Given the description of an element on the screen output the (x, y) to click on. 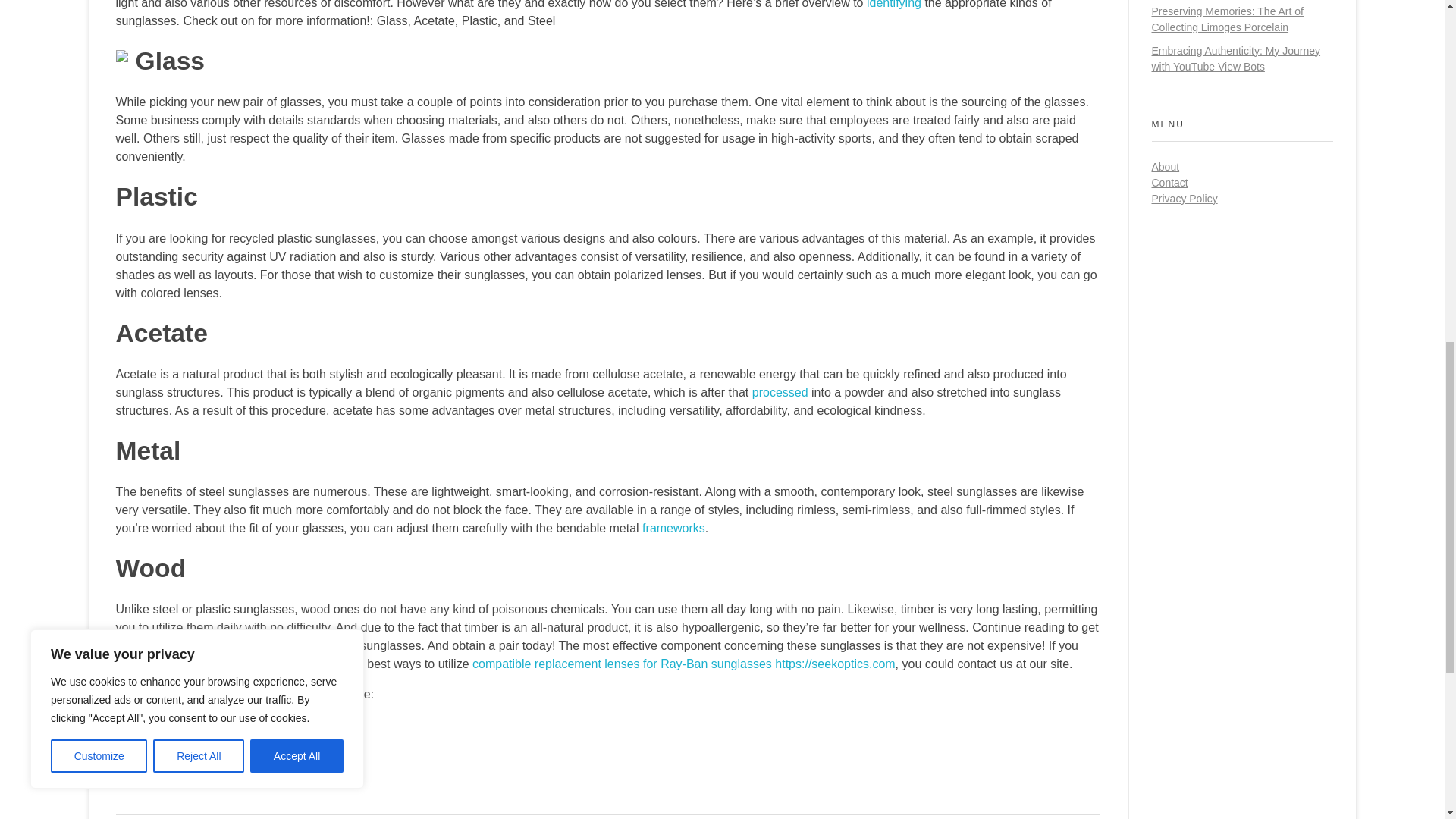
click through the following website (206, 754)
processed (780, 391)
Highly recommended Reading (196, 724)
identifying (893, 4)
frameworks (673, 527)
